Given the description of an element on the screen output the (x, y) to click on. 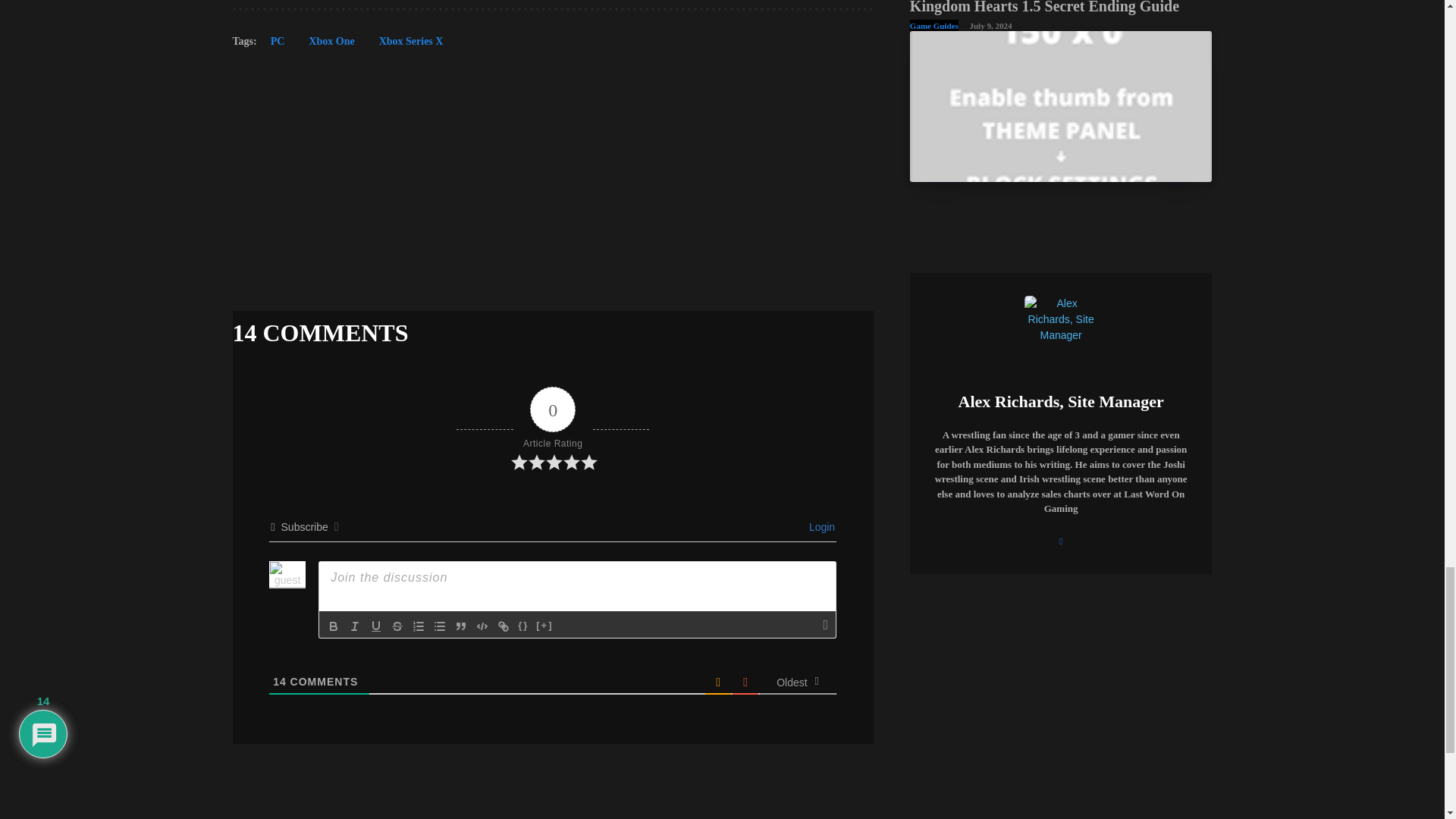
PC (277, 45)
Xbox One (331, 45)
Xbox Series X (411, 45)
